Given the description of an element on the screen output the (x, y) to click on. 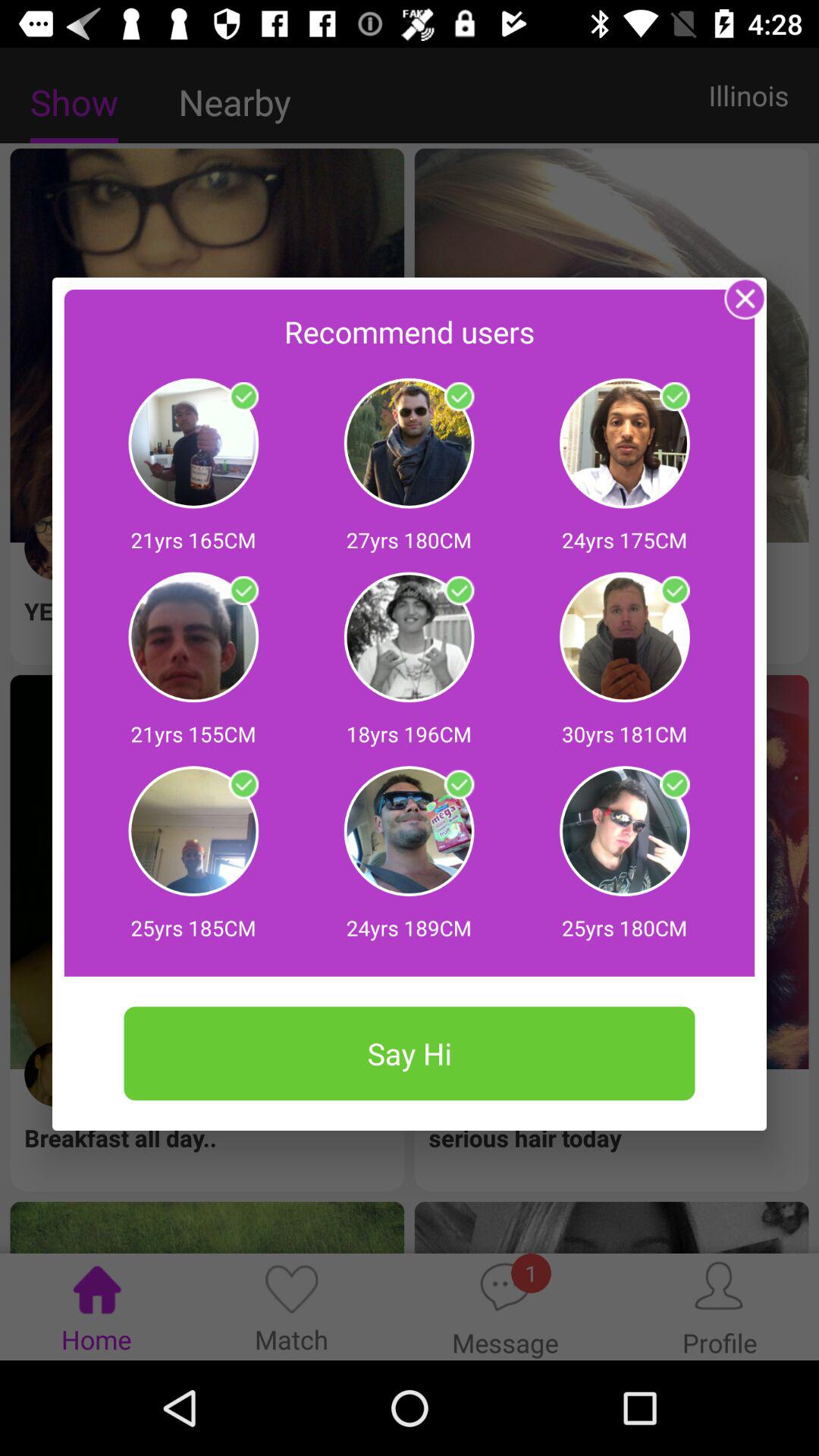
check or uncheck the user (459, 784)
